Given the description of an element on the screen output the (x, y) to click on. 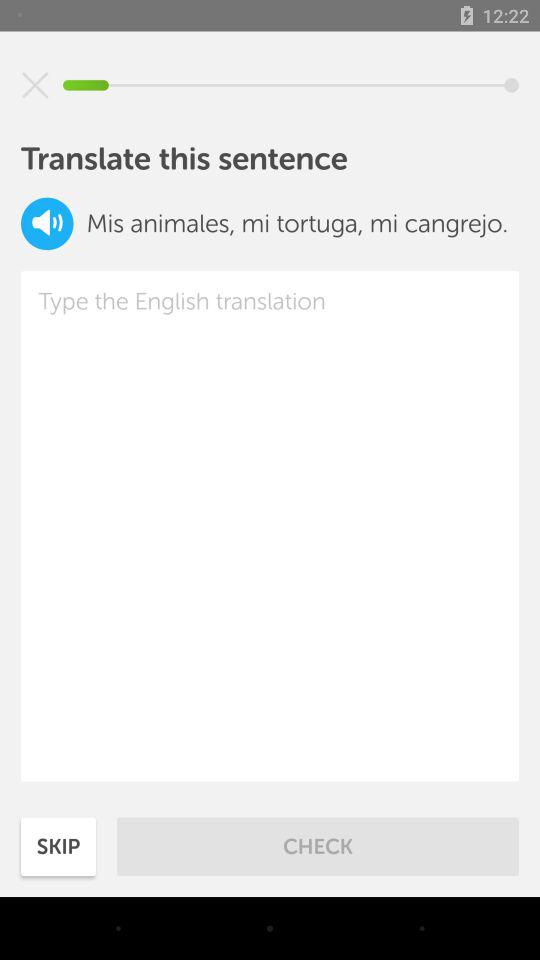
click the volume (47, 223)
